Given the description of an element on the screen output the (x, y) to click on. 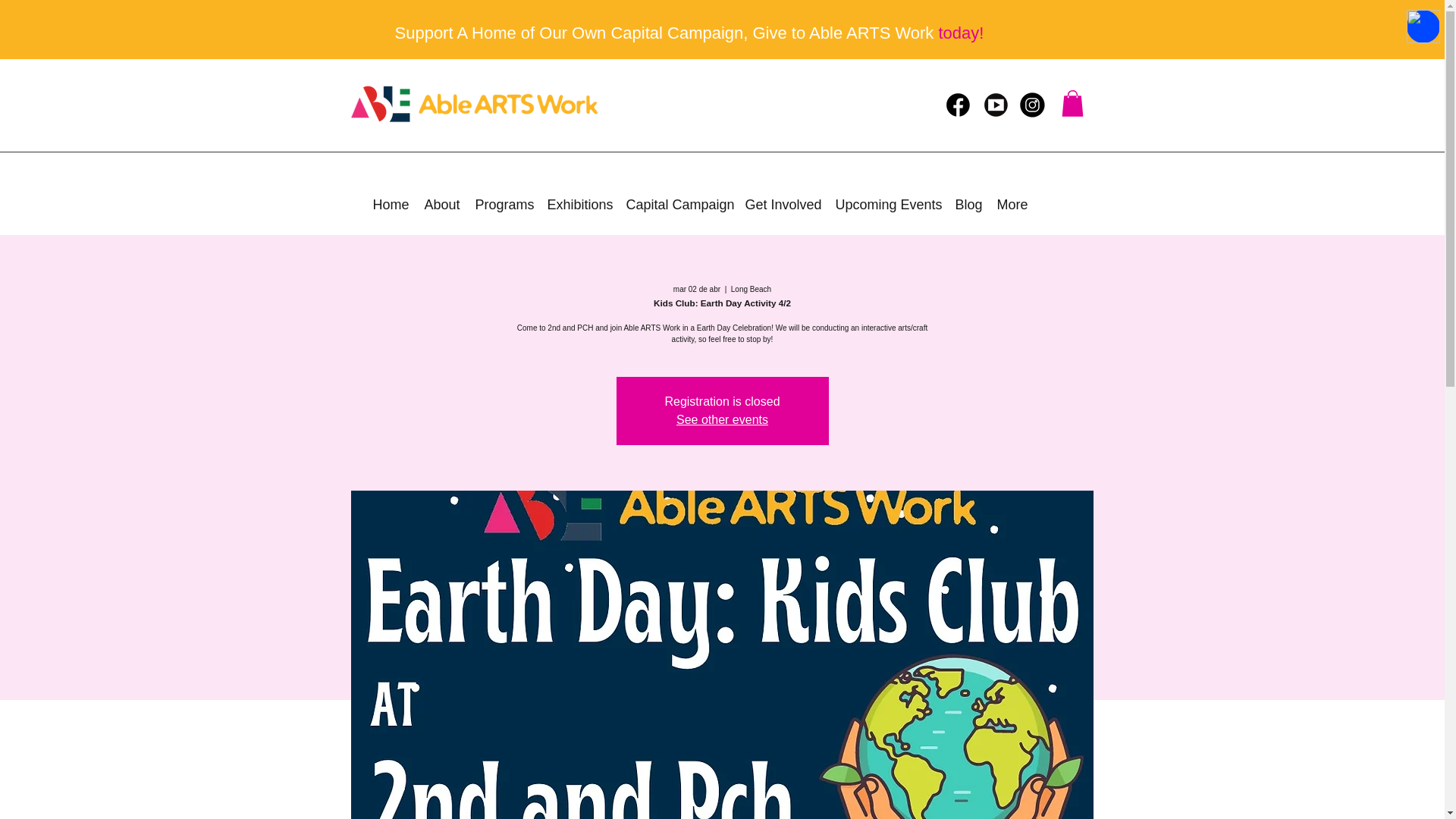
About (441, 204)
Accessibility Menu (1422, 26)
See other events (722, 419)
Exhibitions (579, 204)
Home (390, 204)
Programs (502, 204)
Get Involved (781, 204)
Blog (968, 204)
Capital Campaign (678, 204)
Upcoming Events (887, 204)
